Given the description of an element on the screen output the (x, y) to click on. 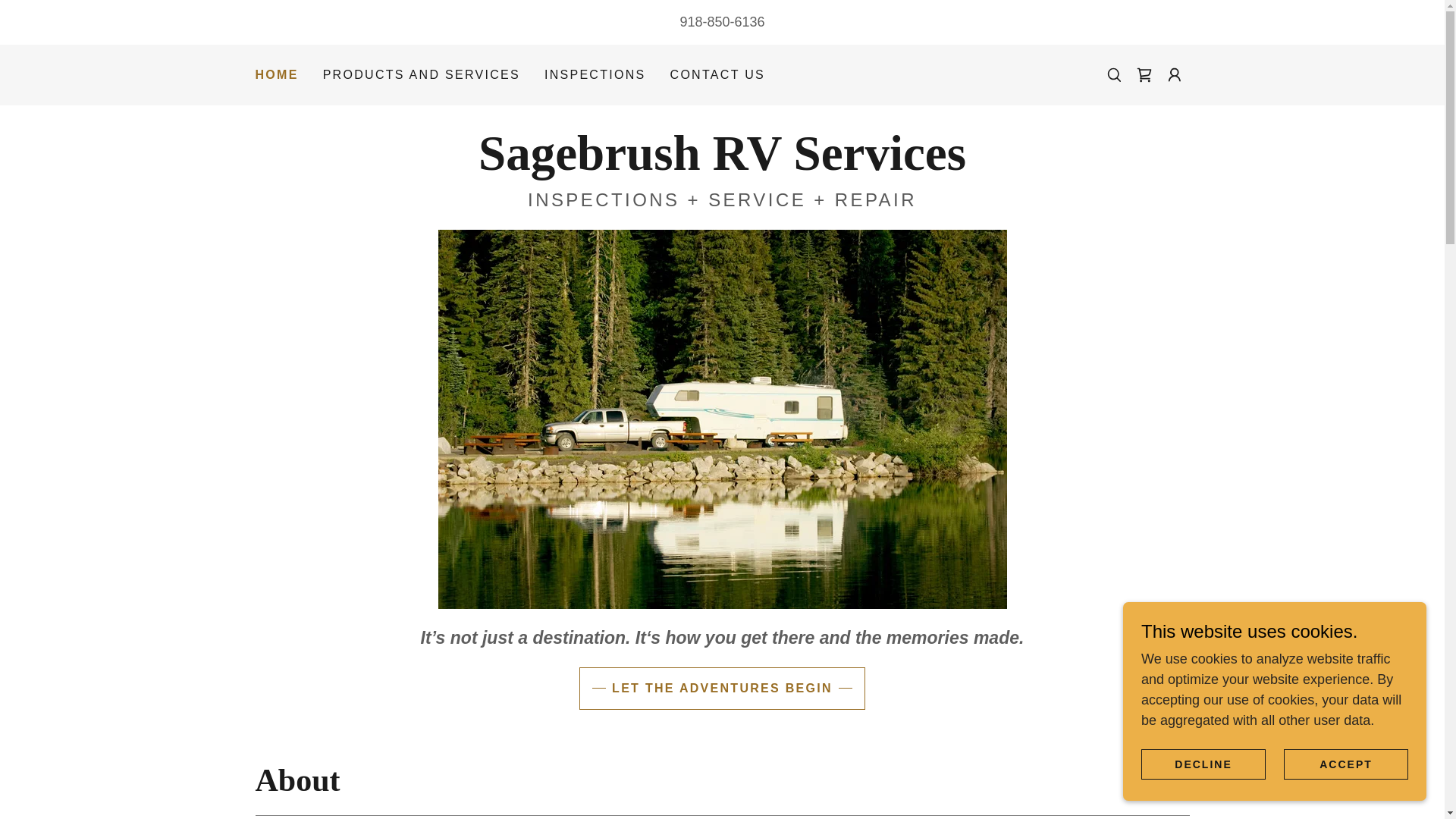
INSPECTIONS (595, 74)
Sagebrush RV Services (722, 165)
LET THE ADVENTURES BEGIN (721, 688)
918-850-6136 (721, 21)
CONTACT US (717, 74)
HOME (276, 75)
PRODUCTS AND SERVICES (421, 74)
Sagebrush RV Services (722, 165)
